Given the description of an element on the screen output the (x, y) to click on. 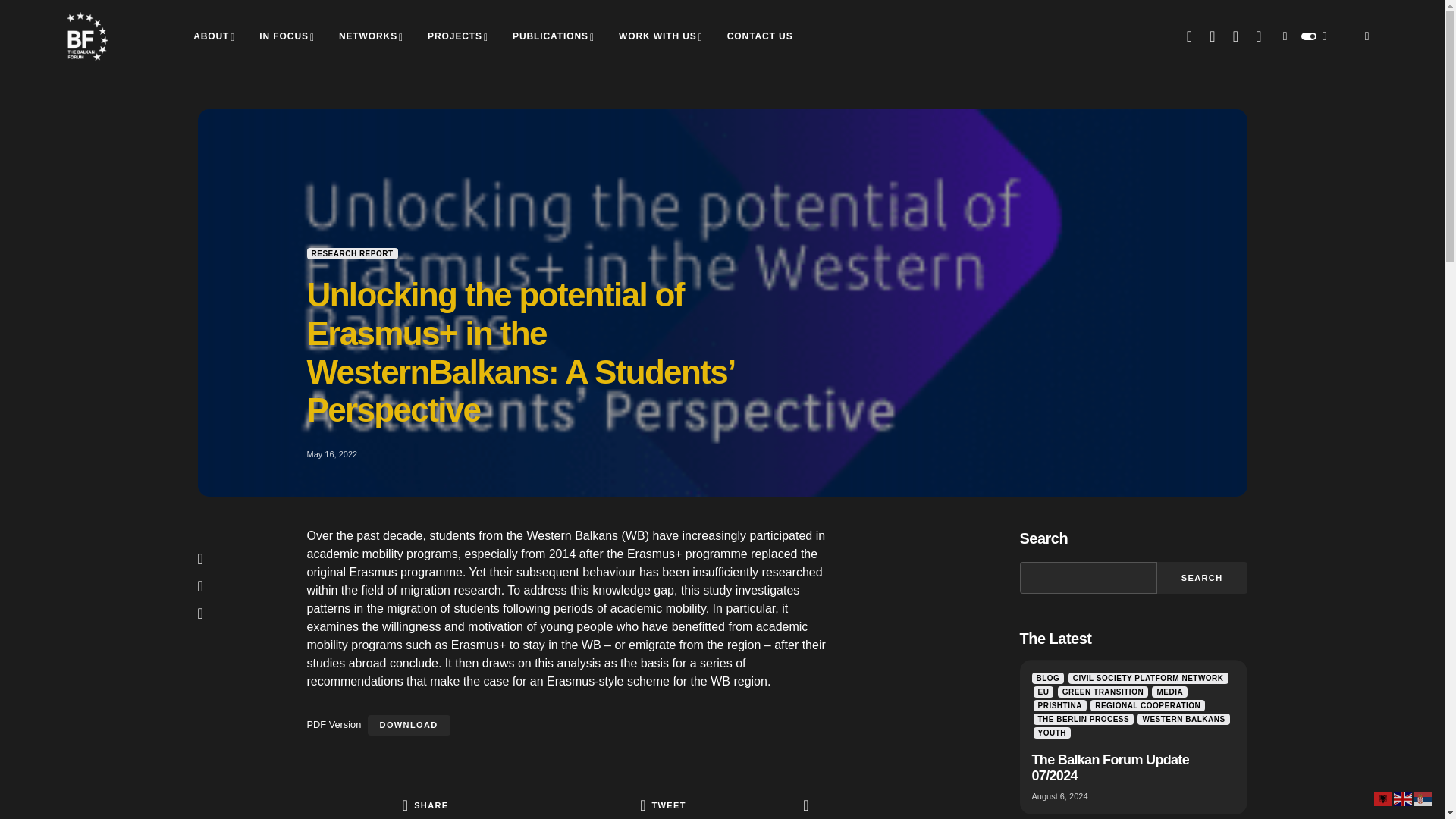
Serbian (1422, 797)
Albanian (1383, 797)
English (1403, 797)
